Given the description of an element on the screen output the (x, y) to click on. 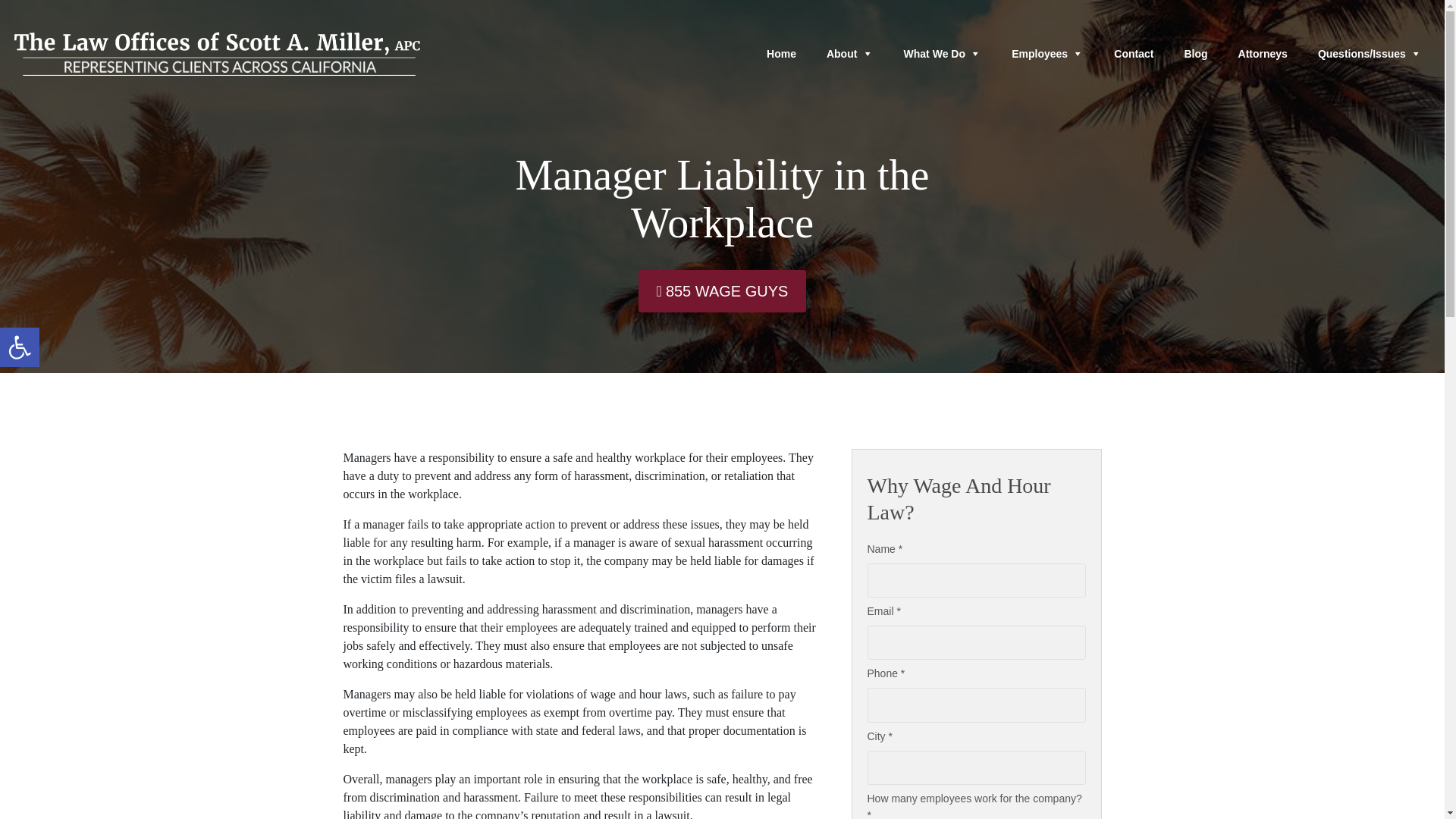
Employees (1047, 53)
Accessibility Tools (19, 346)
Accessibility Tools (19, 346)
Attorneys (1263, 53)
About (849, 53)
Home (780, 53)
Blog (19, 346)
Contact (1196, 53)
What We Do (1134, 53)
